Given the description of an element on the screen output the (x, y) to click on. 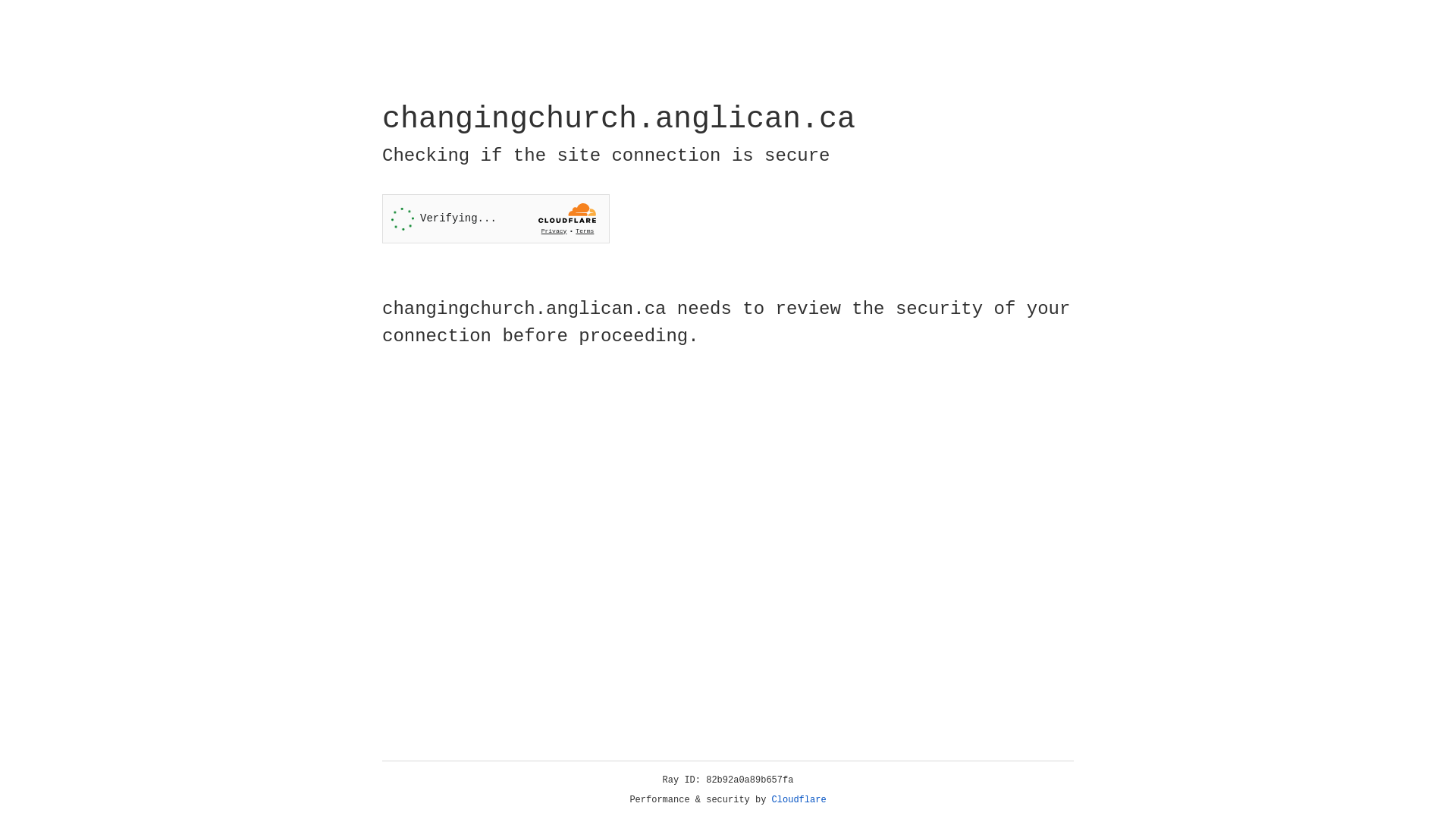
Widget containing a Cloudflare security challenge Element type: hover (495, 218)
Cloudflare Element type: text (798, 799)
